Given the description of an element on the screen output the (x, y) to click on. 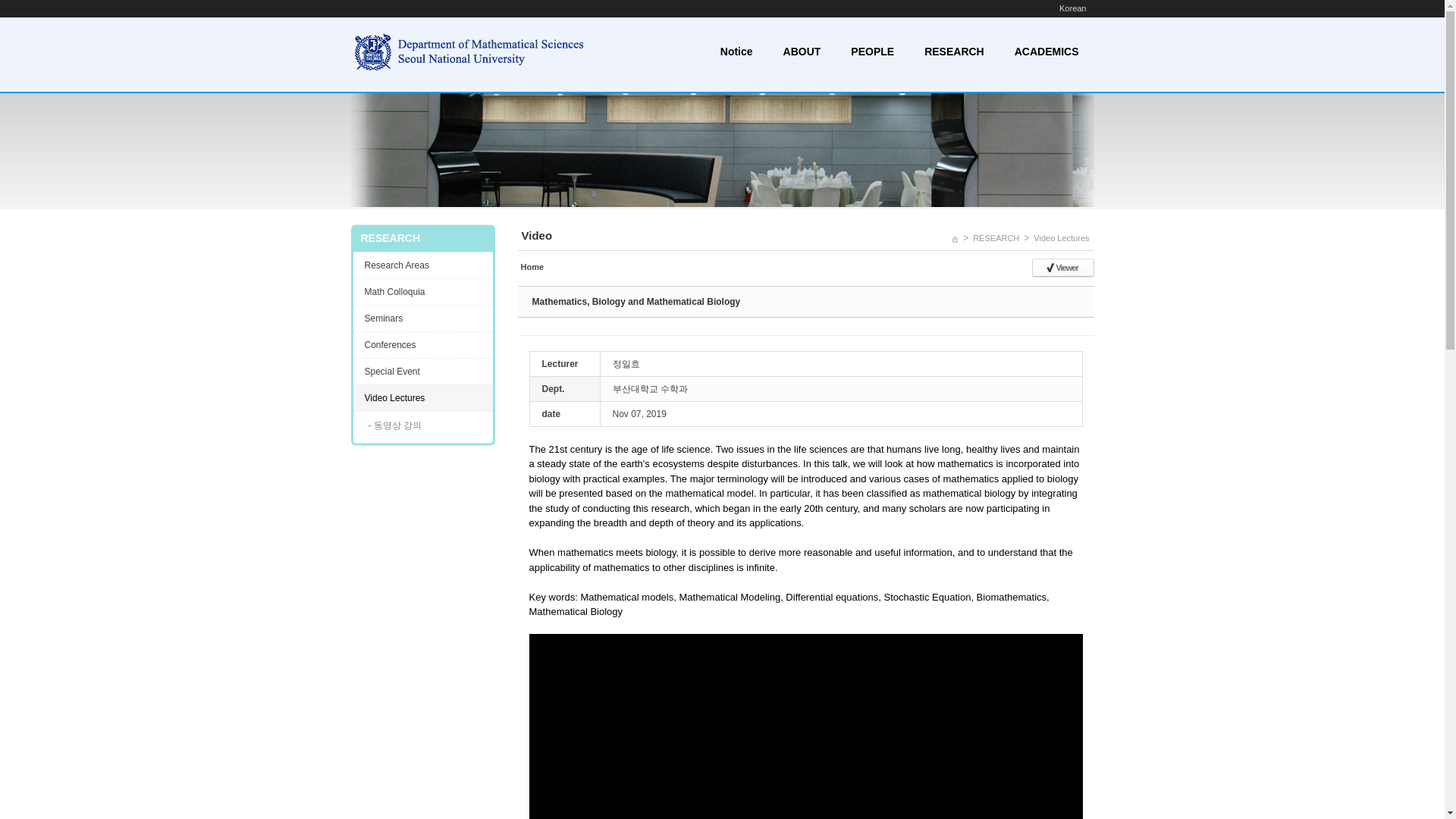
ACADEMICS (1046, 53)
RESEARCH (954, 53)
PEOPLE (872, 53)
Home (531, 267)
Korean (1072, 8)
RESEARCH (995, 238)
Mathematics, Biology and Mathematical Biology (636, 301)
Video Lectures (1061, 238)
ABOUT (801, 53)
Notice (736, 53)
